Given the description of an element on the screen output the (x, y) to click on. 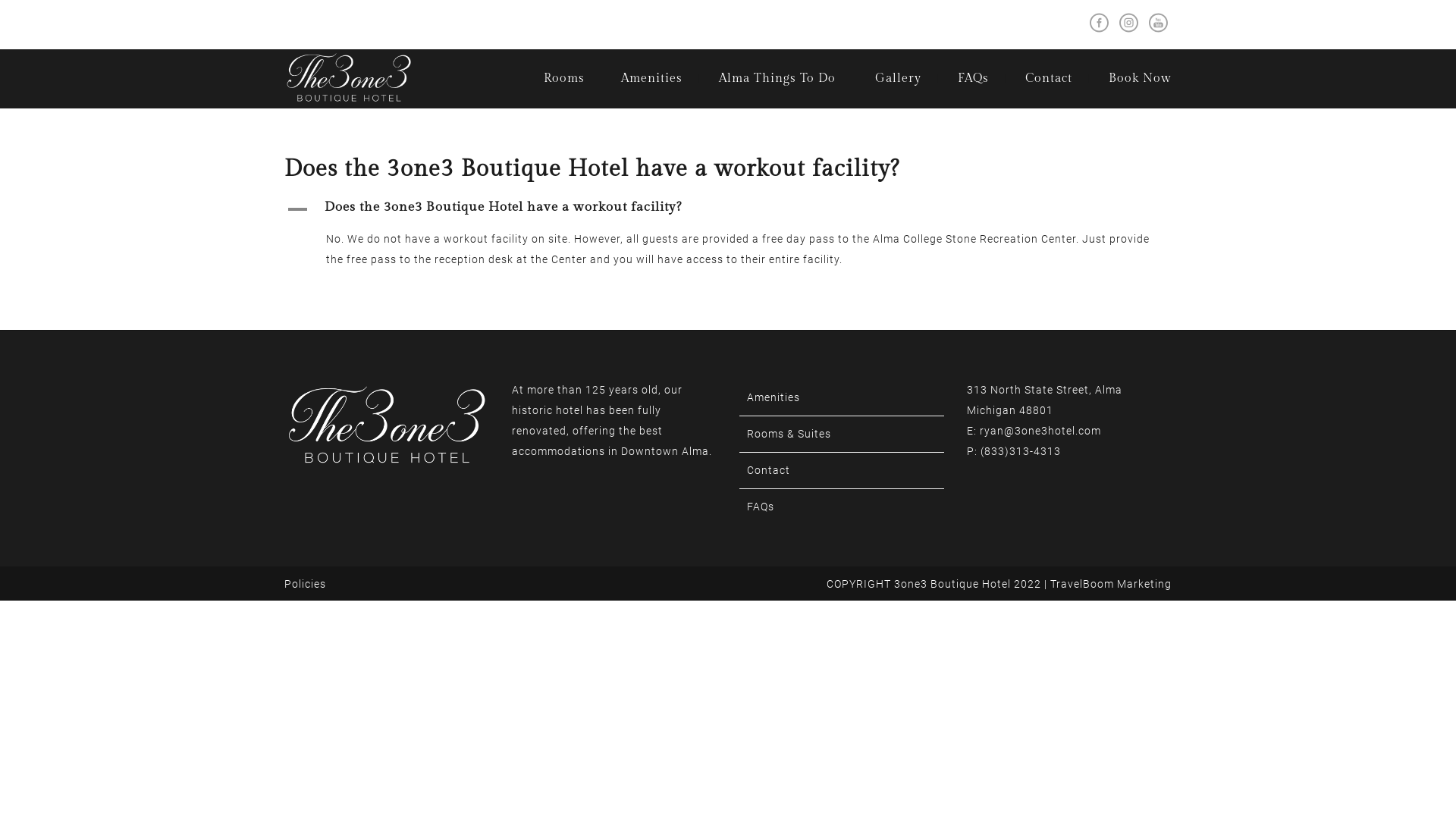
Book Now Element type: text (1139, 78)
A
Does the 3one3 Boutique Hotel have a workout facility? Element type: text (727, 209)
P: (833)313-4313 Element type: text (1013, 451)
Amenities Element type: text (773, 397)
Contact Element type: text (768, 470)
Rooms Element type: text (563, 78)
Amenities Element type: text (651, 78)
Contact Element type: text (1048, 78)
FAQs Element type: text (972, 78)
Policies Element type: text (305, 583)
313 North State Street, Alma Michigan 48801 Element type: text (1044, 399)
Gallery Element type: text (898, 78)
Alma Things To Do Element type: text (776, 78)
TravelBoom Marketing Element type: text (1110, 583)
E: ryan@3one3hotel.com Element type: text (1033, 430)
FAQs Element type: text (760, 506)
Rooms & Suites Element type: text (788, 433)
